Given the description of an element on the screen output the (x, y) to click on. 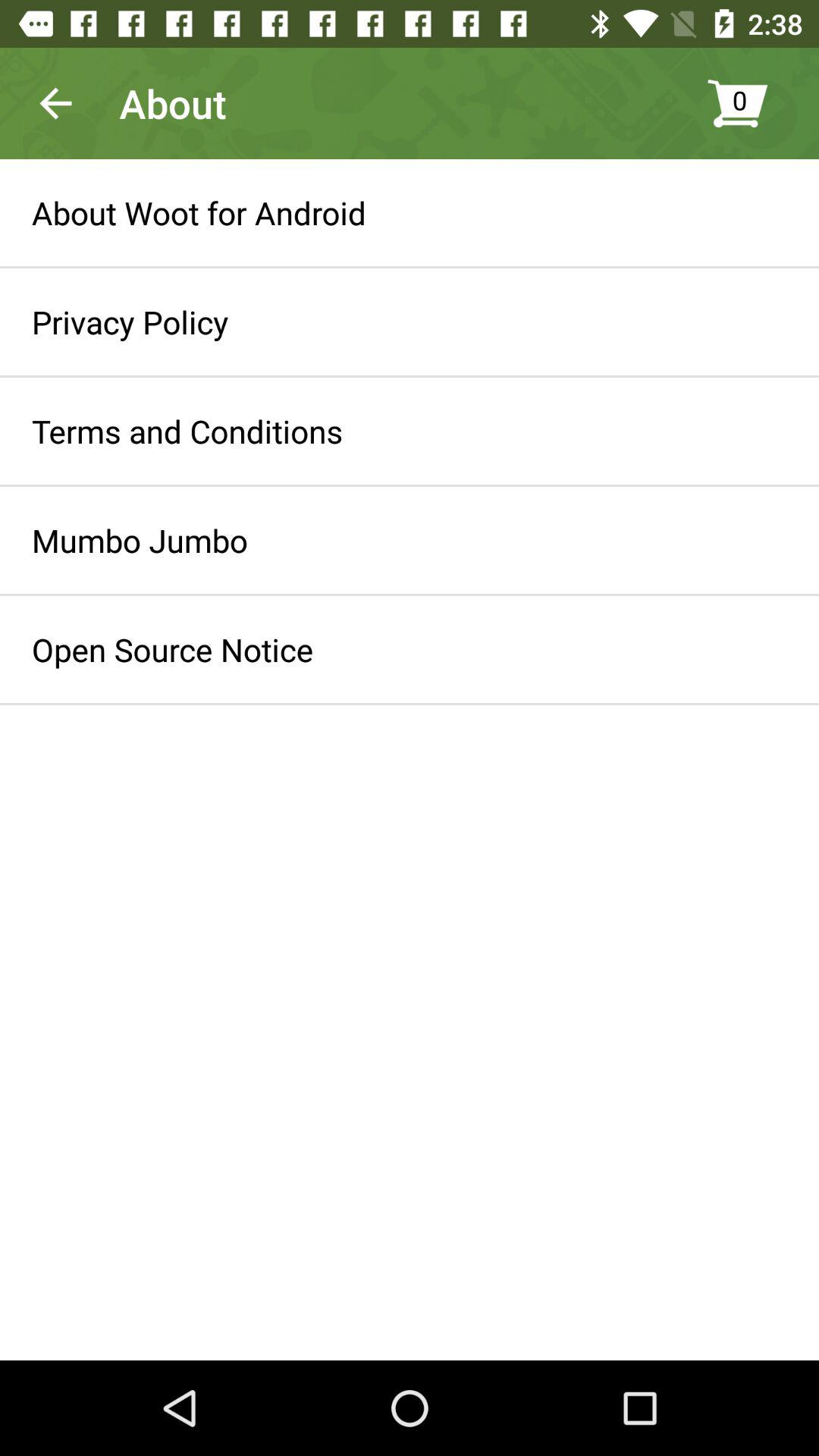
flip to the about woot for (198, 212)
